Given the description of an element on the screen output the (x, y) to click on. 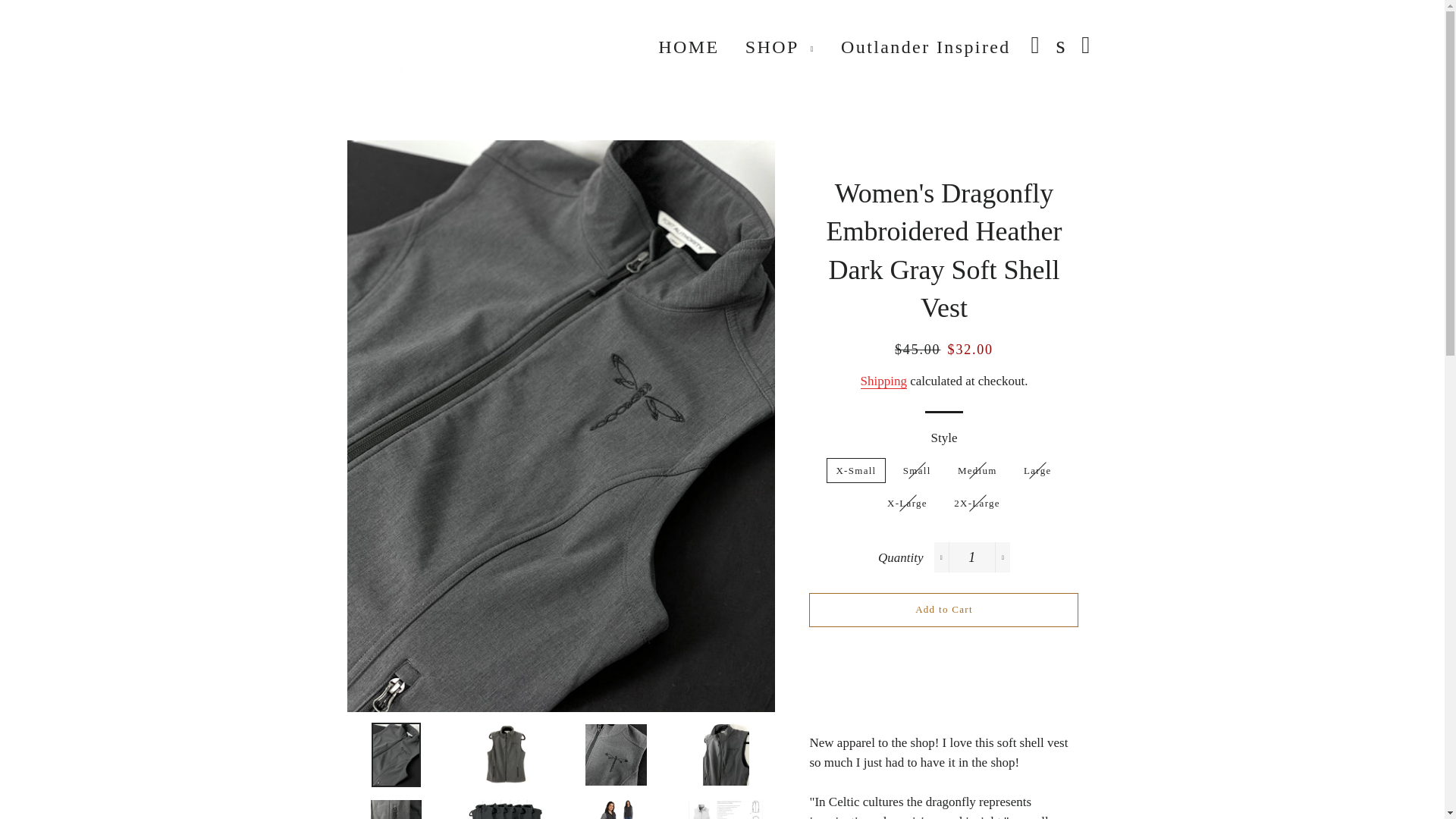
HOME (688, 47)
SHOP (780, 47)
1 (972, 557)
